Given the description of an element on the screen output the (x, y) to click on. 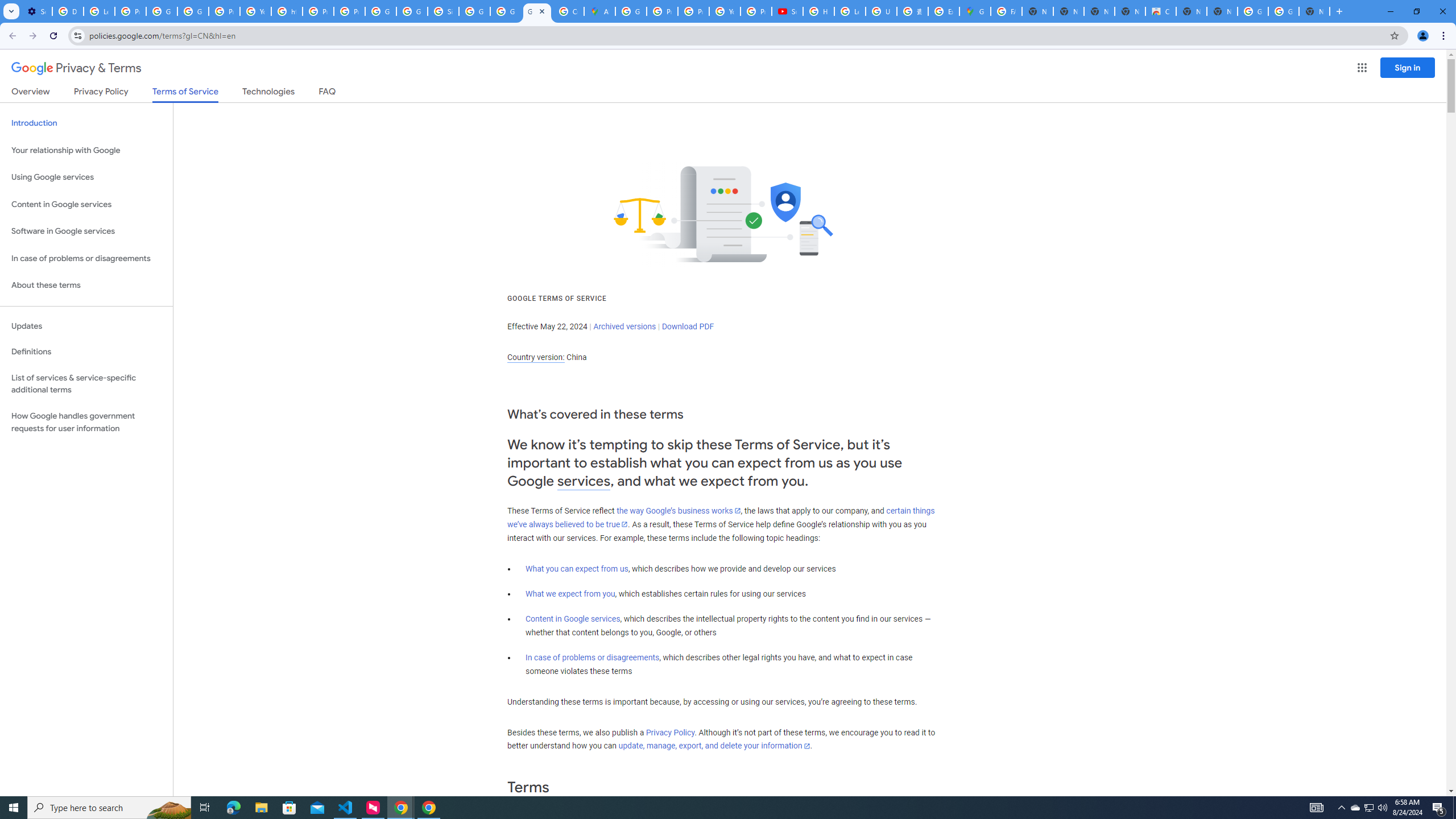
Download PDF (687, 326)
